Given the description of an element on the screen output the (x, y) to click on. 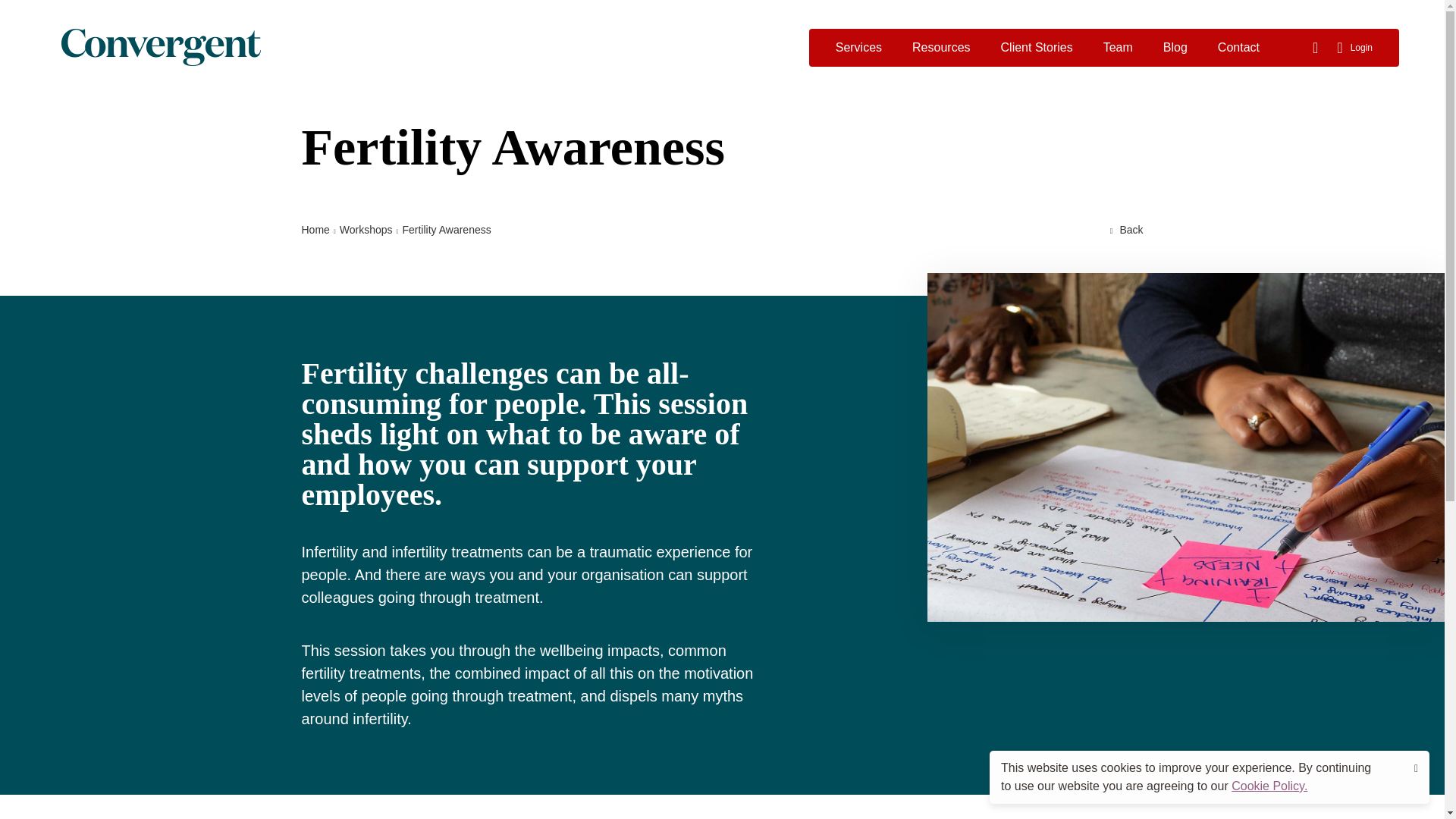
Client Stories (1037, 47)
Resources (940, 47)
Services (858, 47)
Login (1354, 46)
Contact (1238, 47)
